Given the description of an element on the screen output the (x, y) to click on. 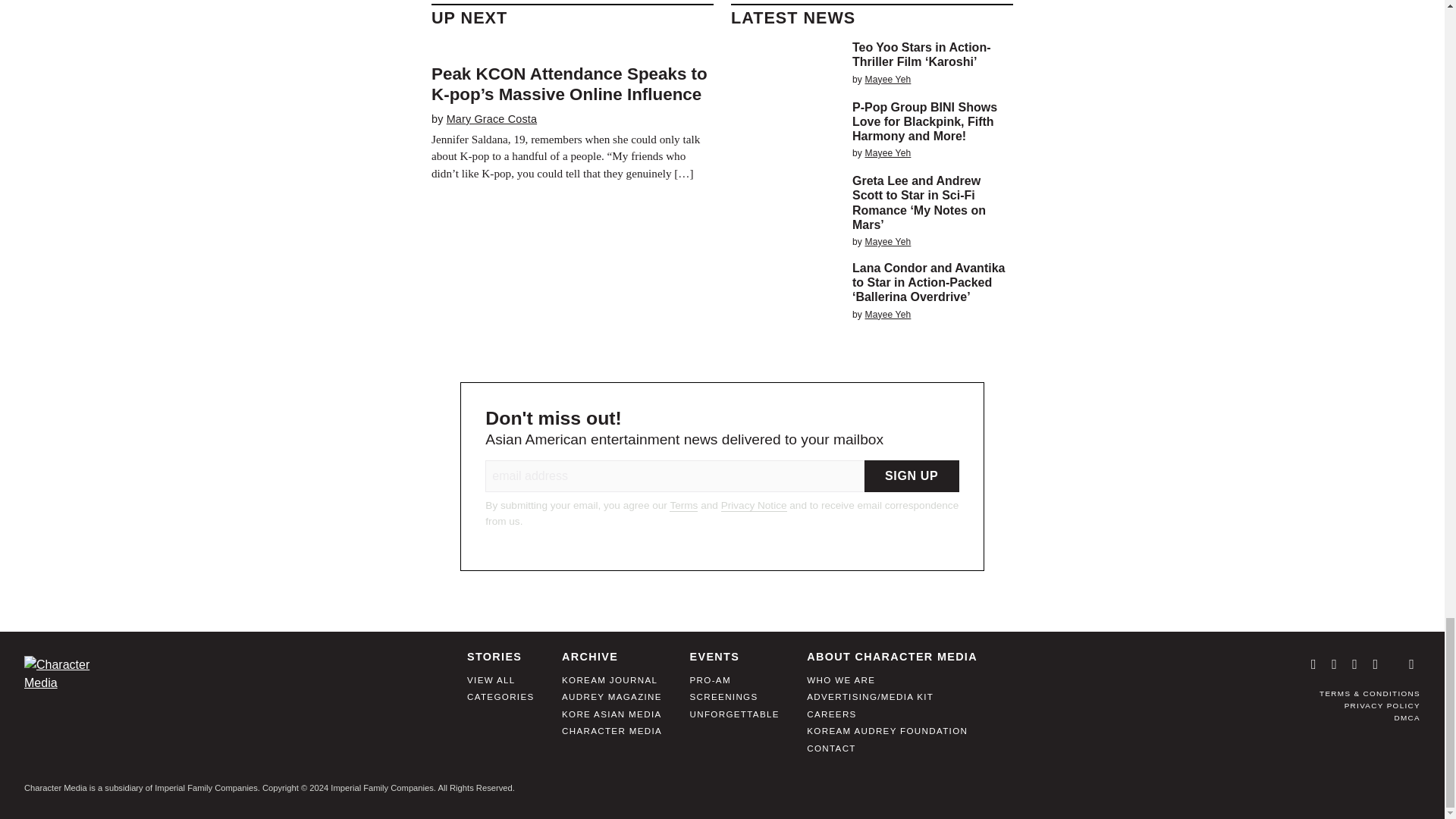
KoreAm Audrey Foundation (887, 736)
Mary Grace Costa (491, 119)
Sign Up (911, 476)
